Given the description of an element on the screen output the (x, y) to click on. 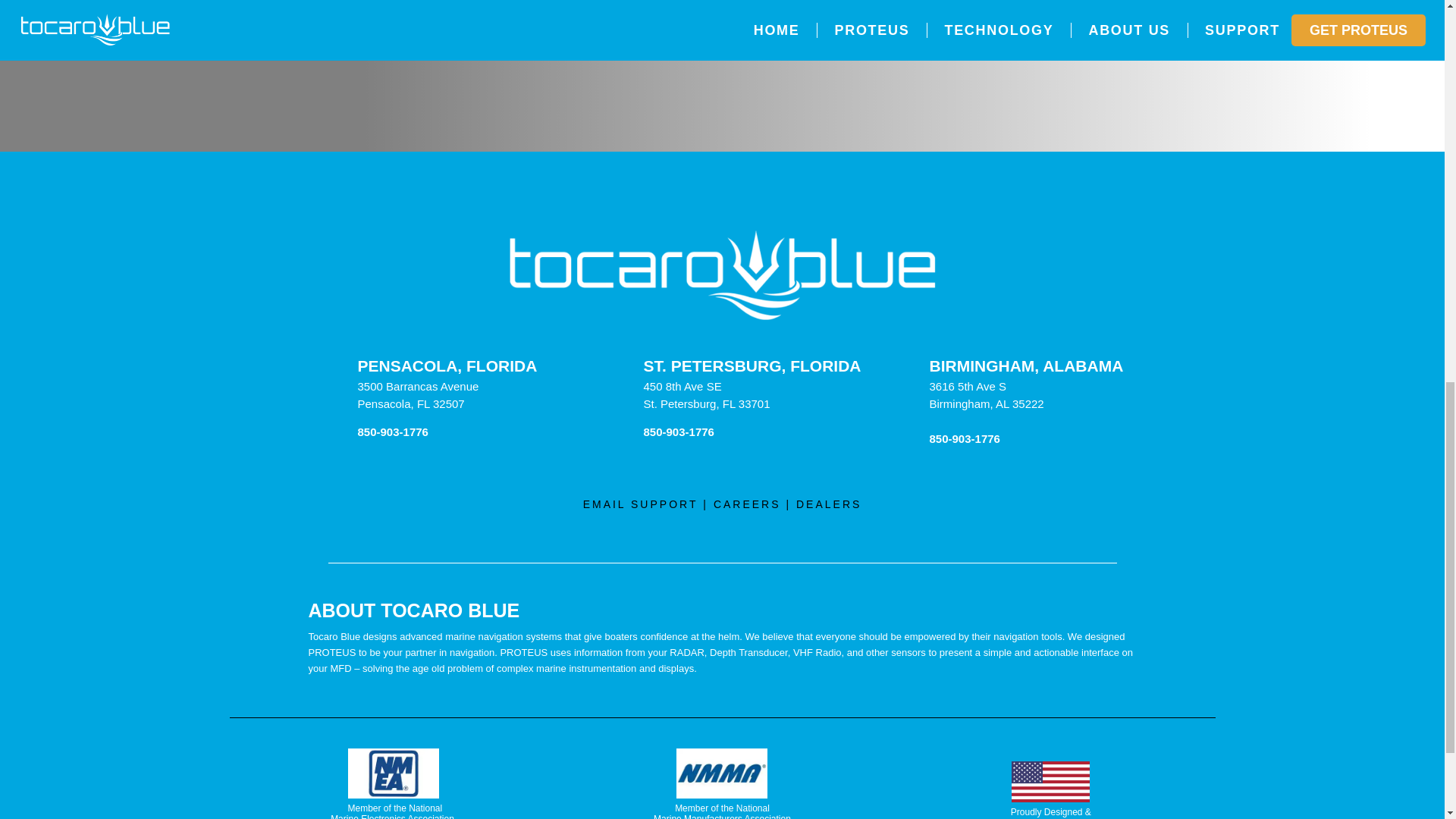
EMAIL SUPPORT (640, 503)
CAREERS (746, 503)
DEALERS (828, 503)
